Given the description of an element on the screen output the (x, y) to click on. 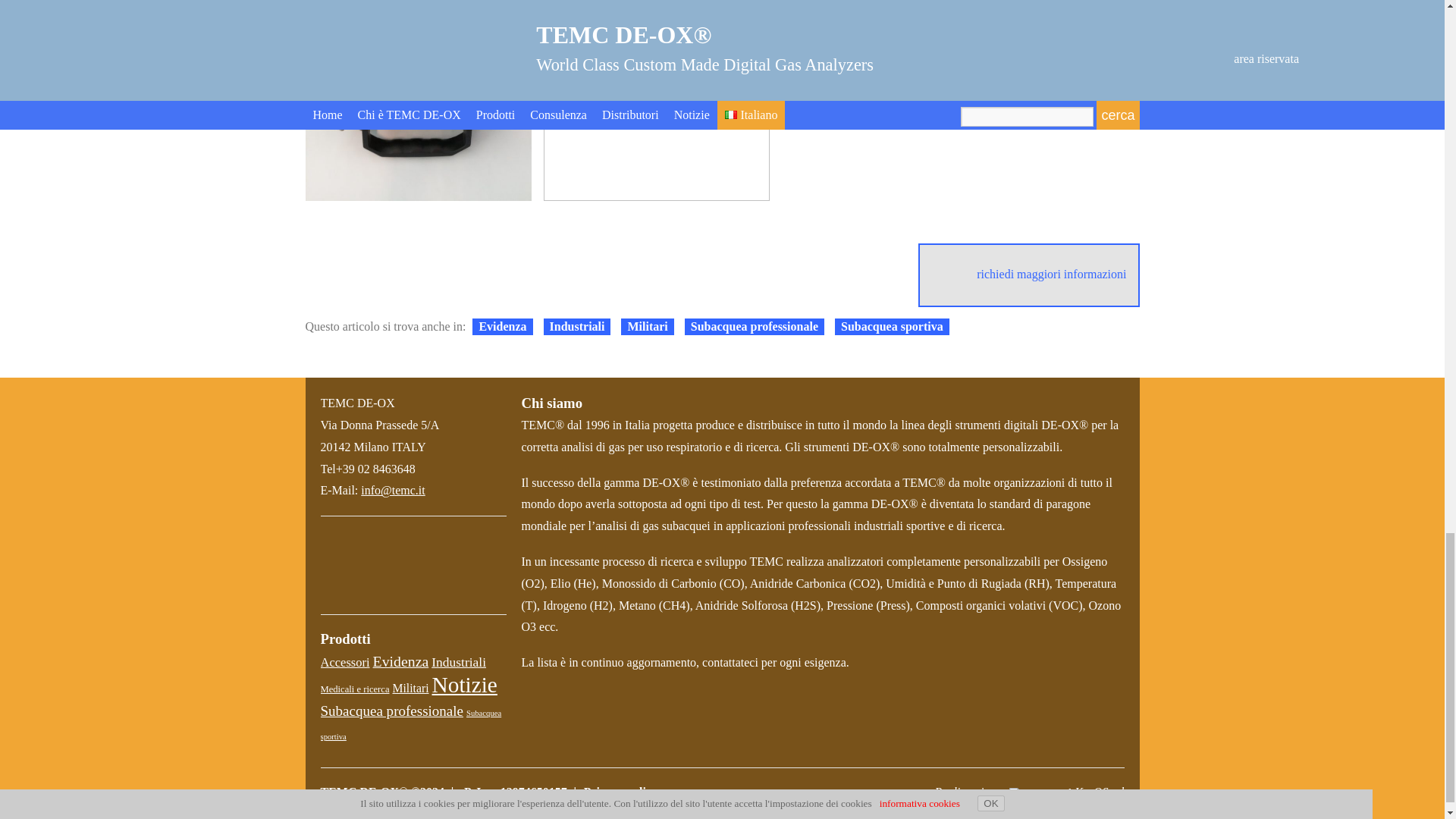
richiedi maggiori informazioni (1028, 275)
Evidenza (501, 326)
Industriali (458, 661)
Militari (646, 326)
Accessori (344, 662)
Evidenza (400, 660)
Subacquea sportiva (891, 326)
KeyOS srl (1029, 792)
KeyOS srl (1039, 793)
